Given the description of an element on the screen output the (x, y) to click on. 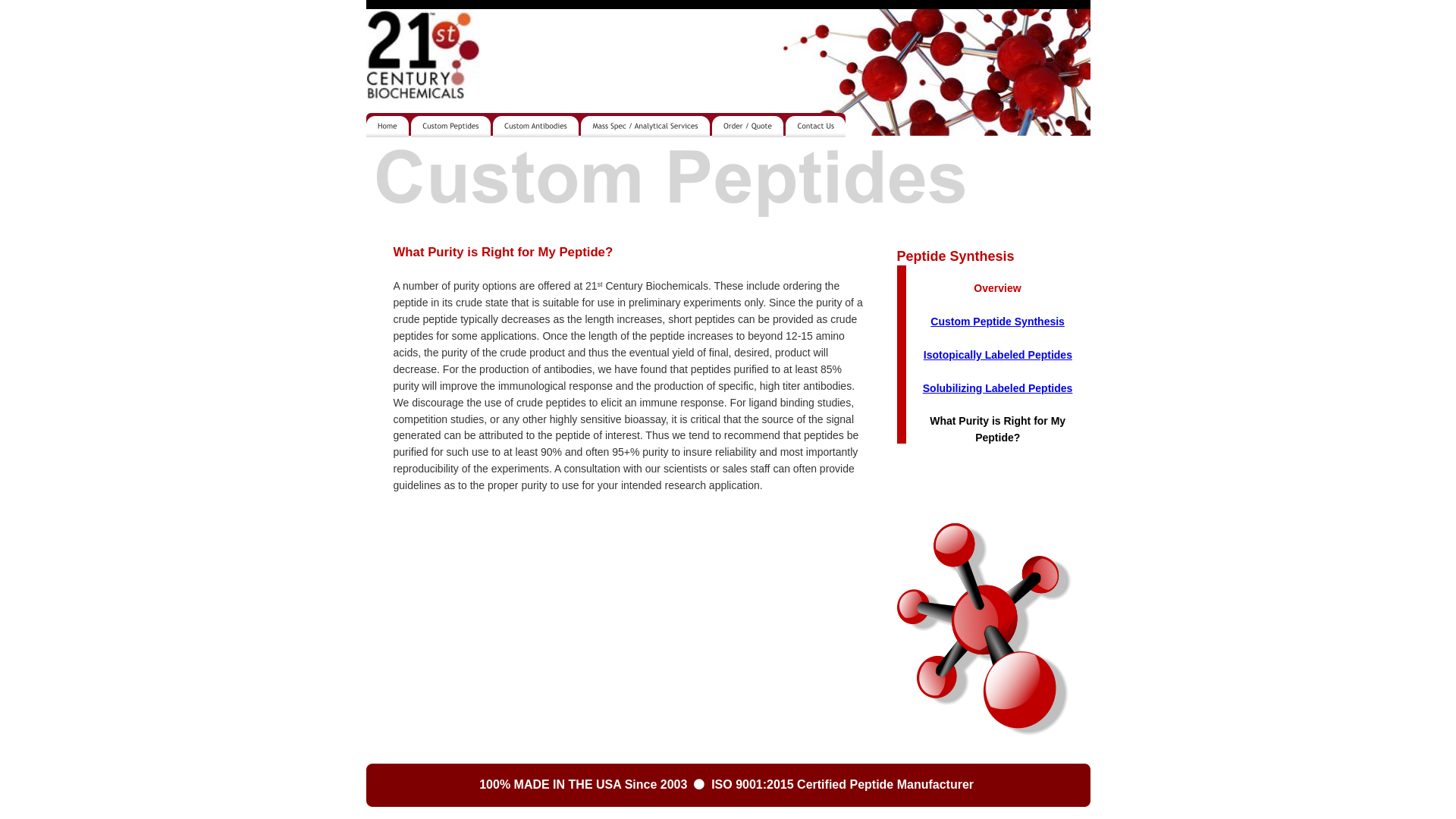
Isotopically Labeled Peptides Element type: text (997, 354)
Solubilizing Labeled Peptides Element type: text (997, 388)
Custom Peptide Synthesis Element type: text (997, 321)
